Given the description of an element on the screen output the (x, y) to click on. 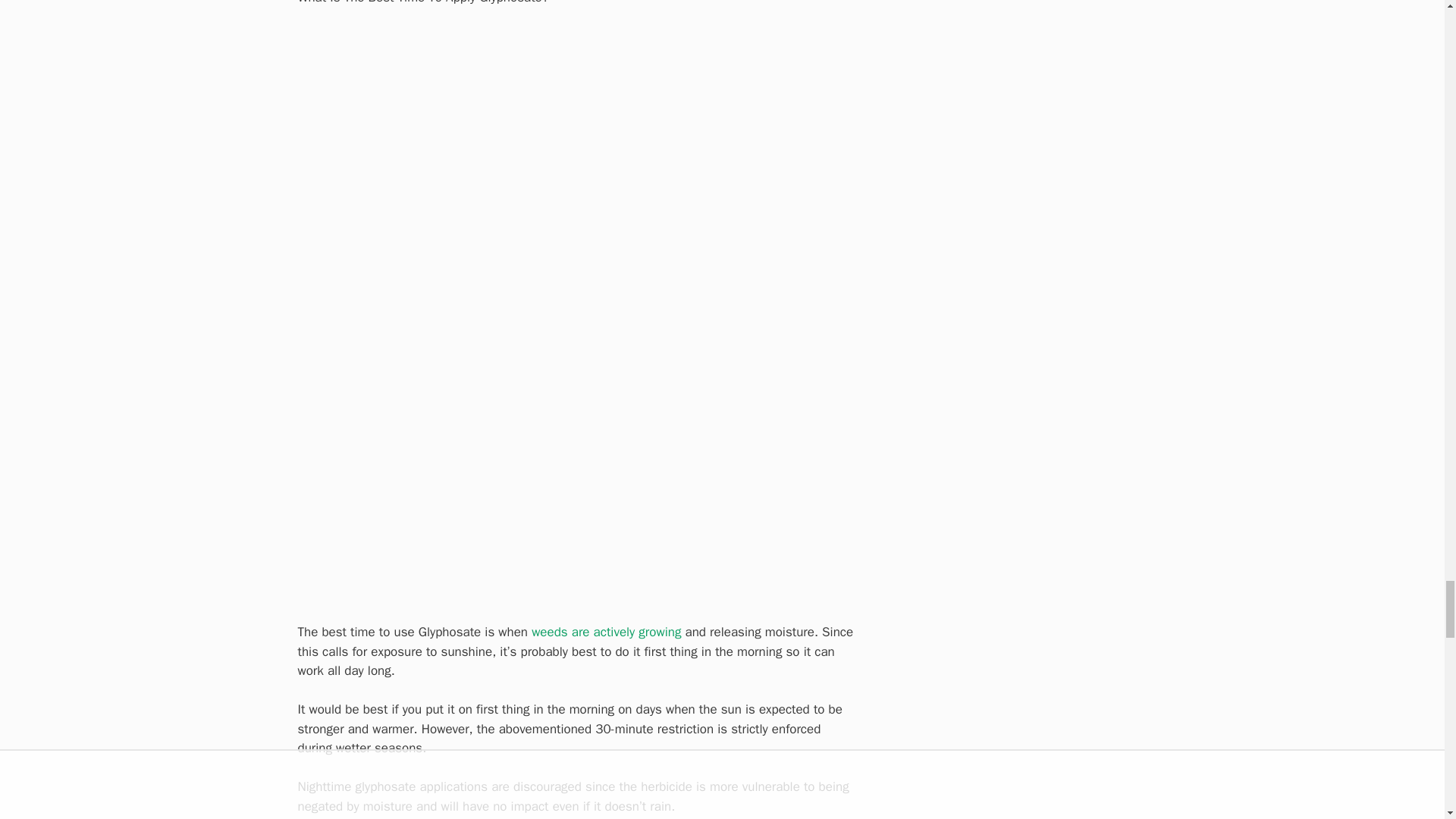
weeds are actively growing (606, 631)
